Given the description of an element on the screen output the (x, y) to click on. 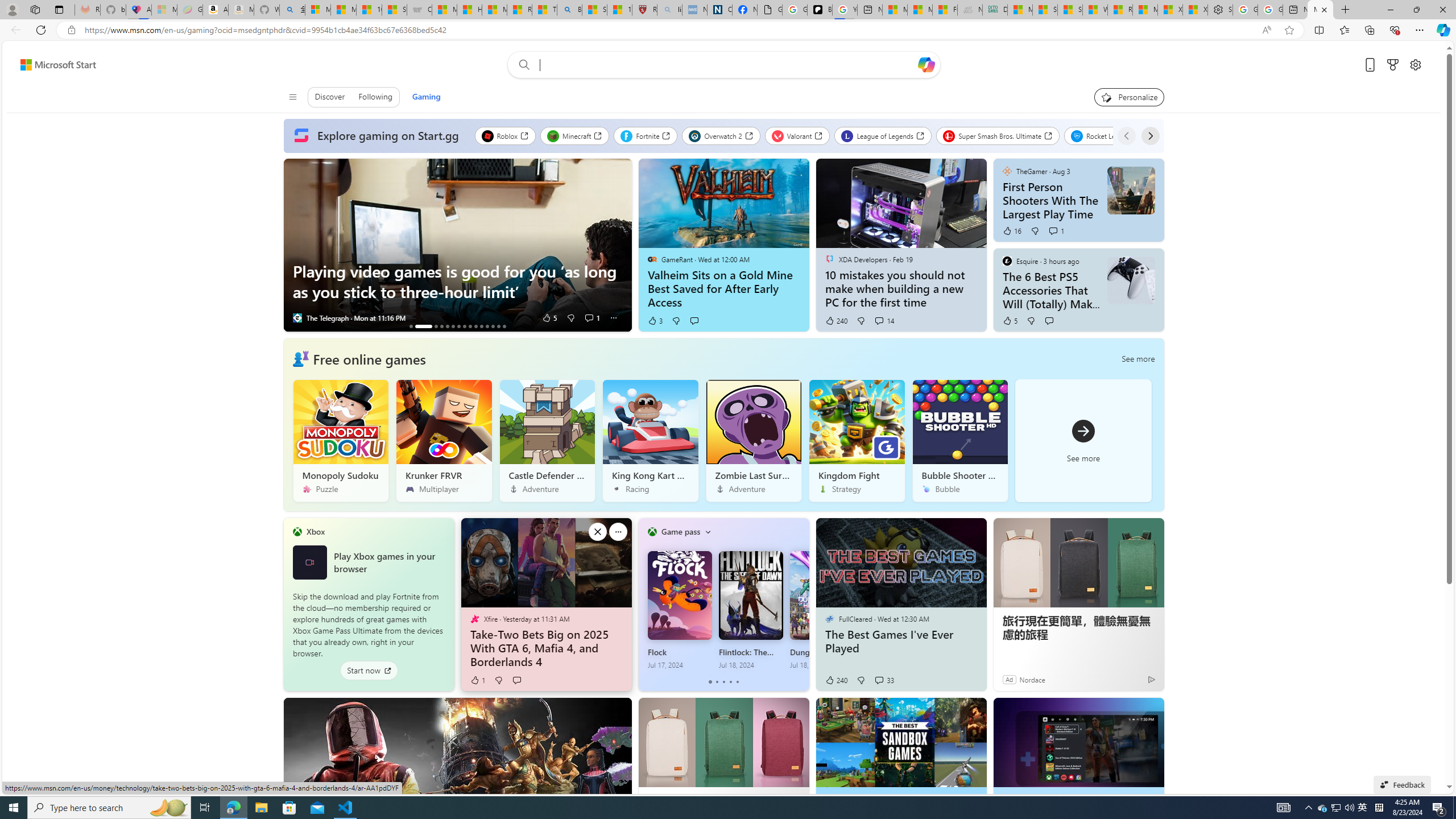
View comments 1 Comment (1055, 230)
Castle Defender Saga (547, 440)
Zombie Last Survivor (753, 440)
First Person Shooters With The Largest Play Time (1050, 200)
1 Like (477, 680)
The Best Games I've Ever Played (900, 641)
Personal Profile (12, 9)
The 7 Best Free Cooking Games On Poki (464, 326)
View comments 14 Comment (878, 320)
AutomationID: tab_nativead-infopane-3 (435, 326)
Gaming (425, 97)
240 Like (835, 680)
